Given the description of an element on the screen output the (x, y) to click on. 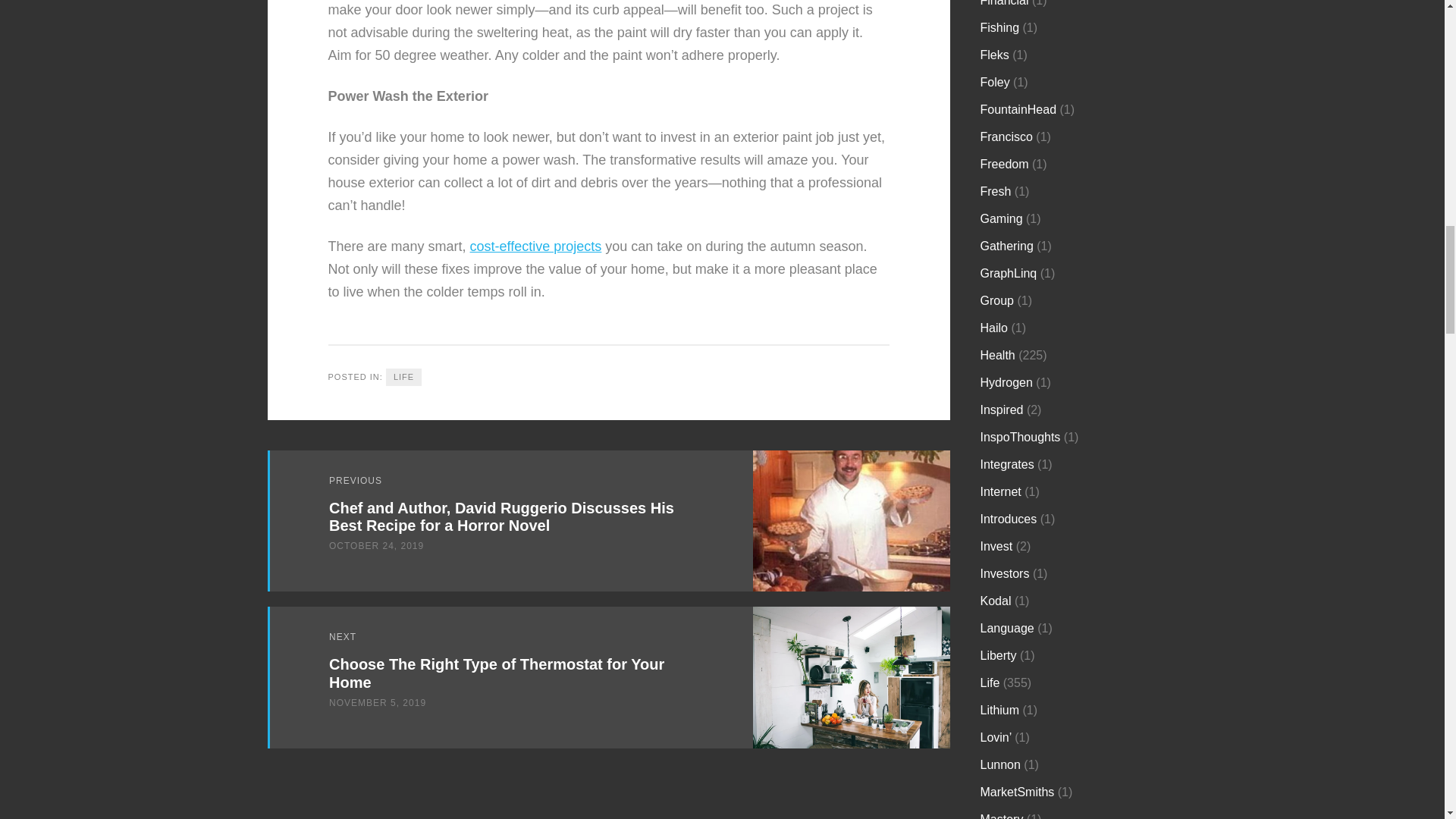
LIFE (403, 376)
cost-effective projects (536, 246)
Choose The Right Type of Thermostat for Your Home (496, 673)
